Given the description of an element on the screen output the (x, y) to click on. 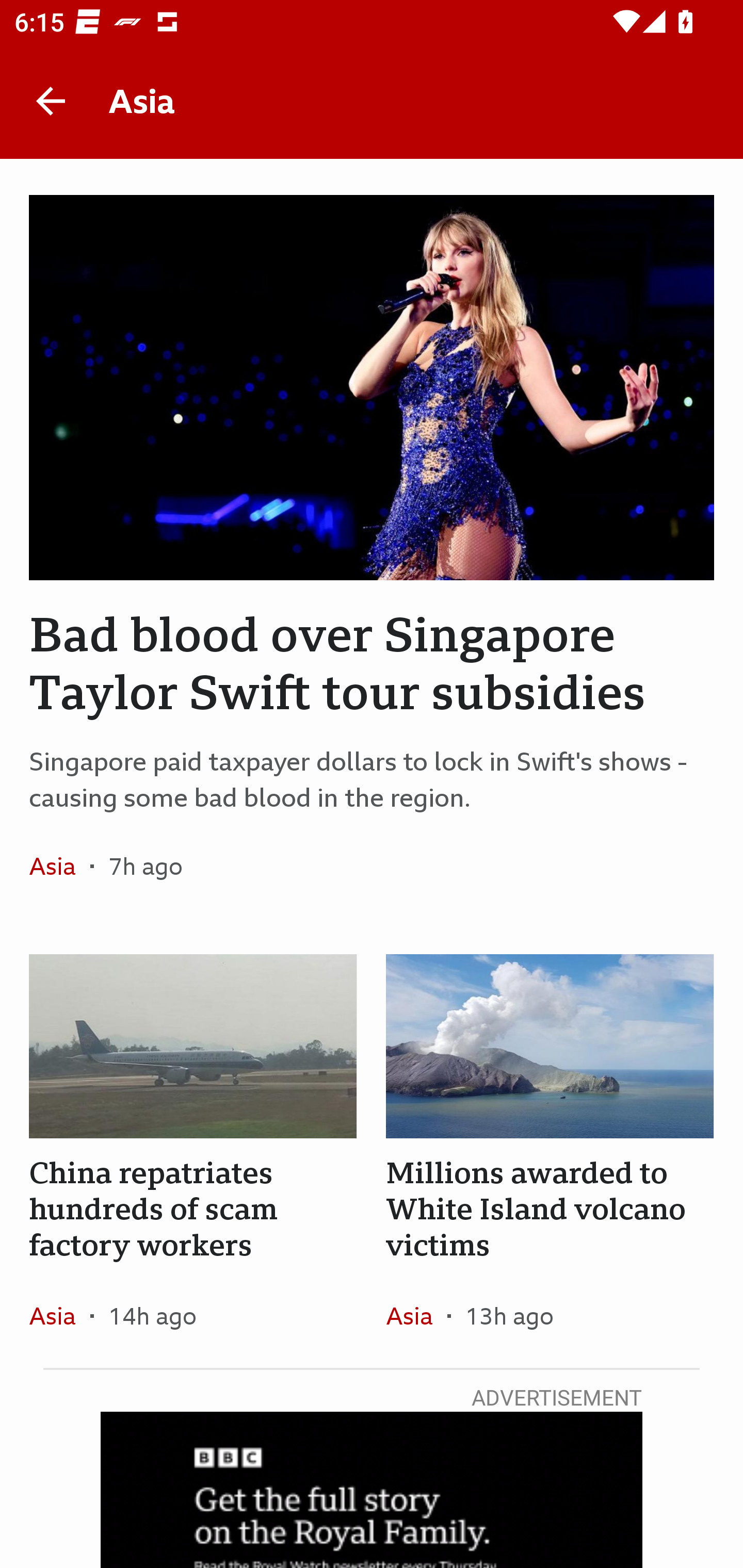
Back (50, 101)
Asia In the section Asia (59, 865)
Asia In the section Asia (59, 1315)
Asia In the section Asia (416, 1315)
